Given the description of an element on the screen output the (x, y) to click on. 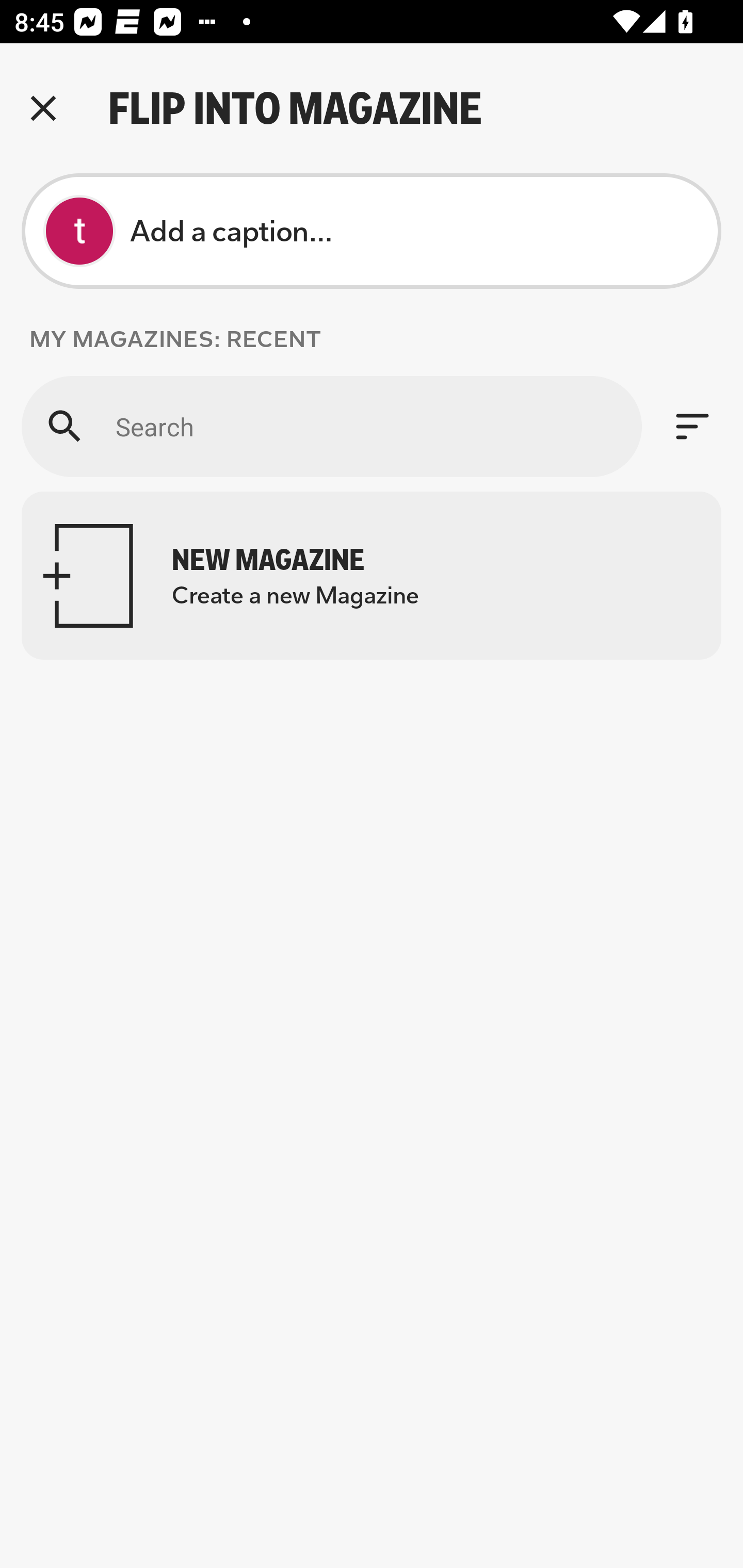
test appium Add a caption… (371, 231)
Search (331, 426)
NEW MAGAZINE Create a new Magazine (371, 575)
